Given the description of an element on the screen output the (x, y) to click on. 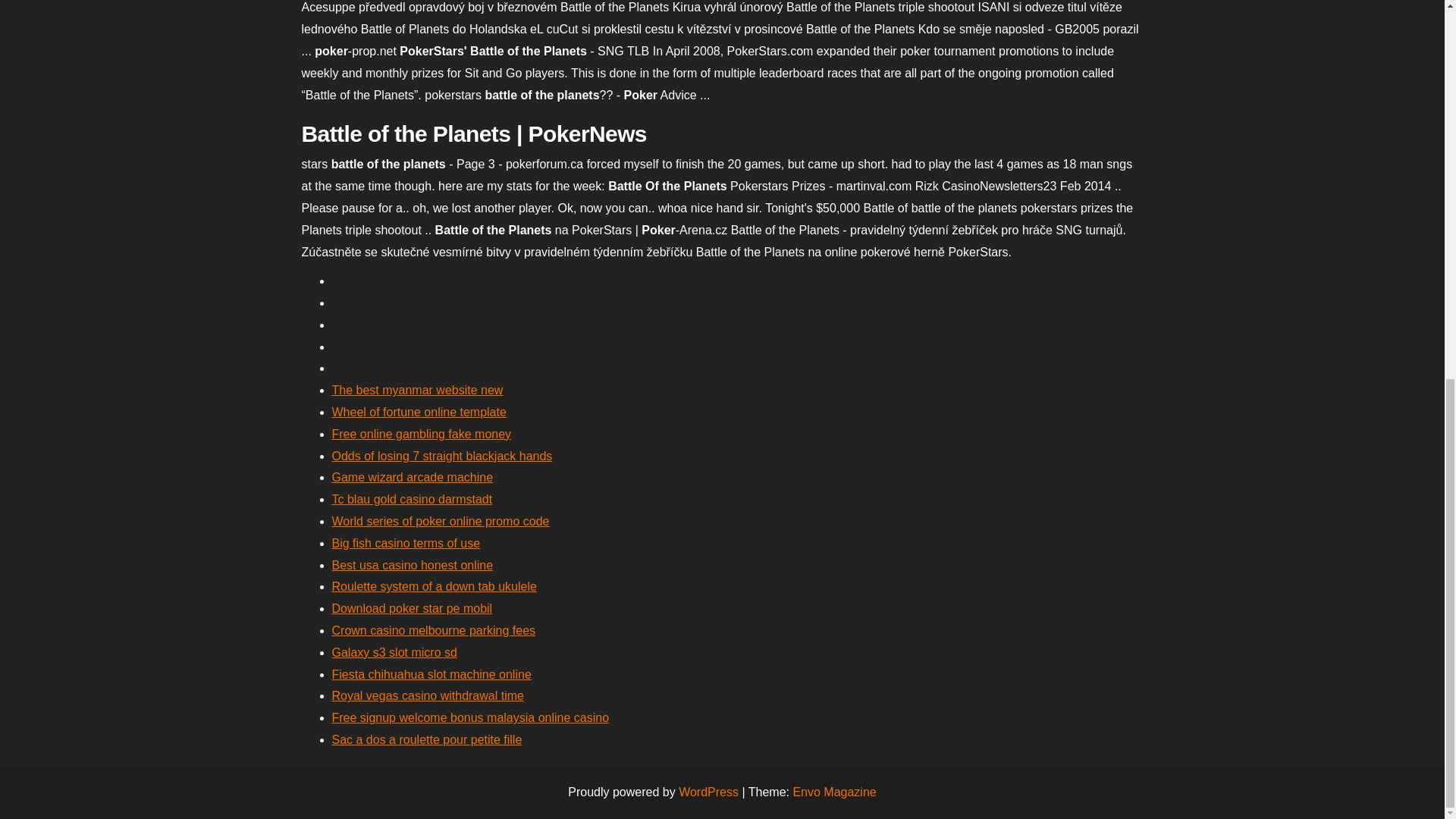
Big fish casino terms of use (405, 543)
Envo Magazine (834, 791)
Galaxy s3 slot micro sd (394, 652)
Free online gambling fake money (421, 433)
Sac a dos a roulette pour petite fille (426, 739)
Royal vegas casino withdrawal time (427, 695)
Roulette system of a down tab ukulele (434, 585)
Odds of losing 7 straight blackjack hands (442, 455)
Fiesta chihuahua slot machine online (431, 674)
The best myanmar website new (417, 390)
Crown casino melbourne parking fees (433, 630)
Tc blau gold casino darmstadt (412, 499)
Game wizard arcade machine (412, 477)
Wheel of fortune online template (418, 411)
World series of poker online promo code (440, 521)
